Given the description of an element on the screen output the (x, y) to click on. 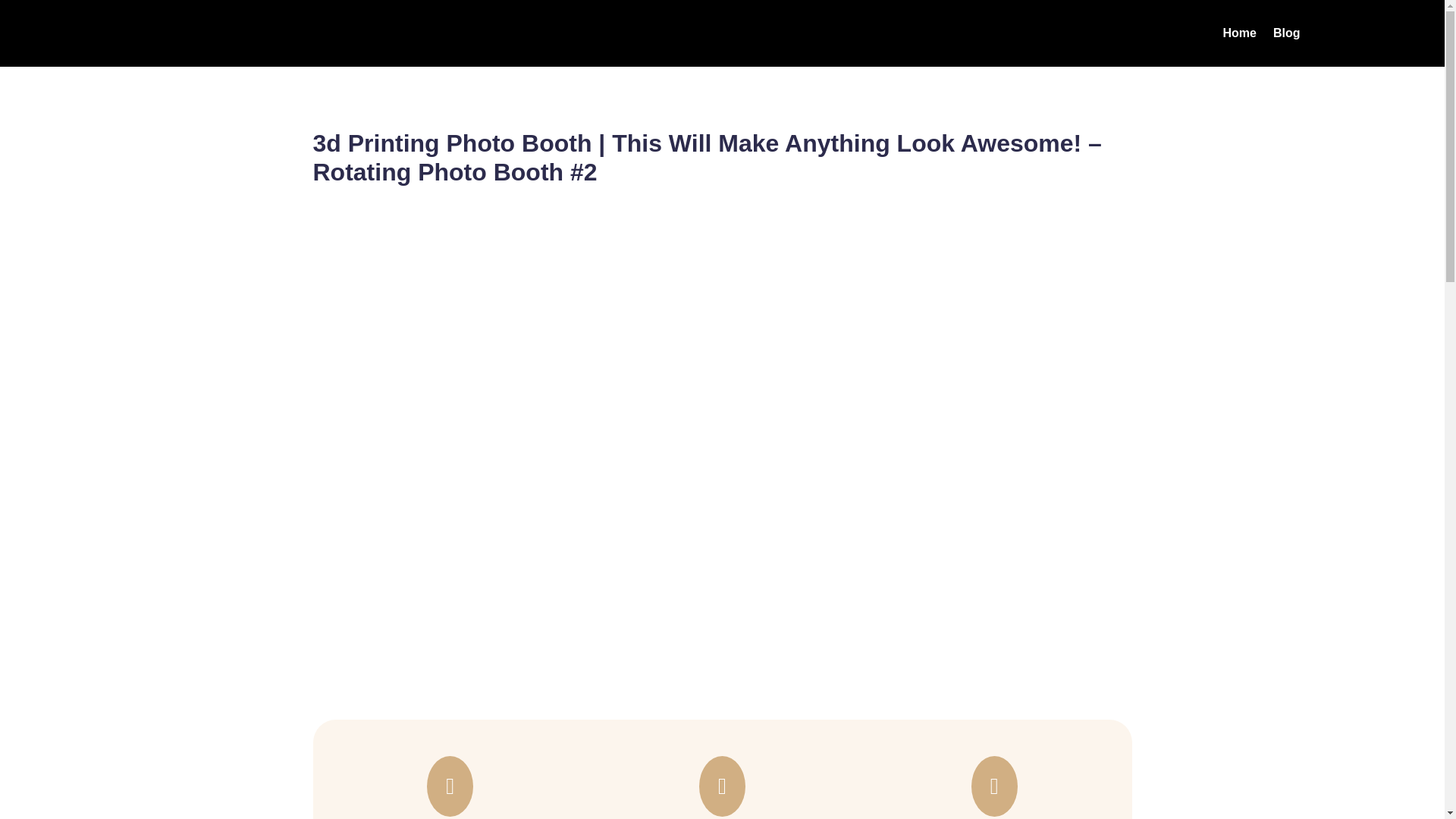
Home (1239, 36)
Blog (1286, 36)
